Given the description of an element on the screen output the (x, y) to click on. 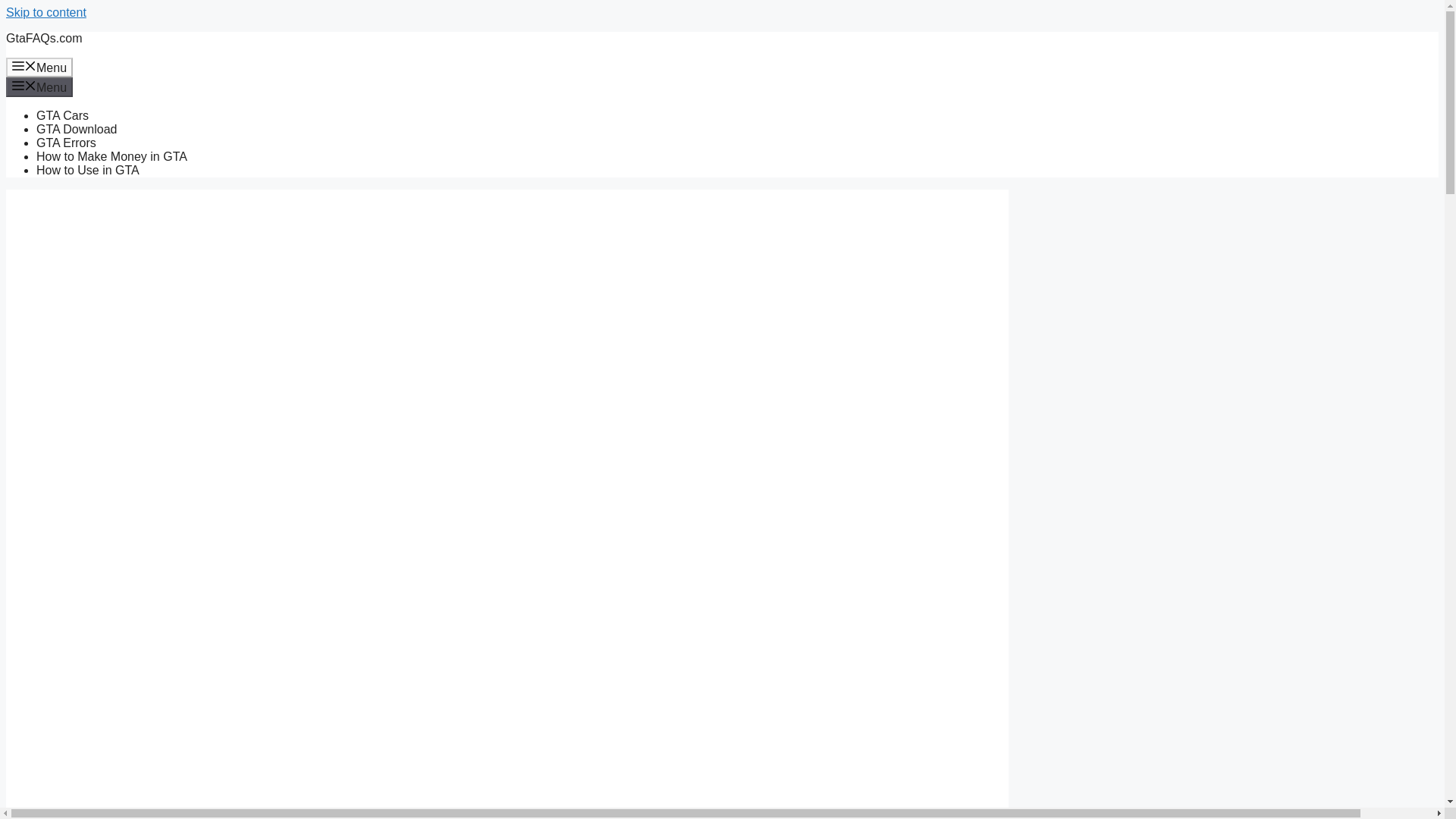
Menu (38, 86)
GTA Errors (66, 142)
Menu (38, 66)
Skip to content (45, 11)
Skip to content (45, 11)
GTA Cars (62, 115)
How to Make Money in GTA (111, 155)
How to Use in GTA (87, 169)
GTA Download (76, 128)
GtaFAQs.com (43, 38)
